Given the description of an element on the screen output the (x, y) to click on. 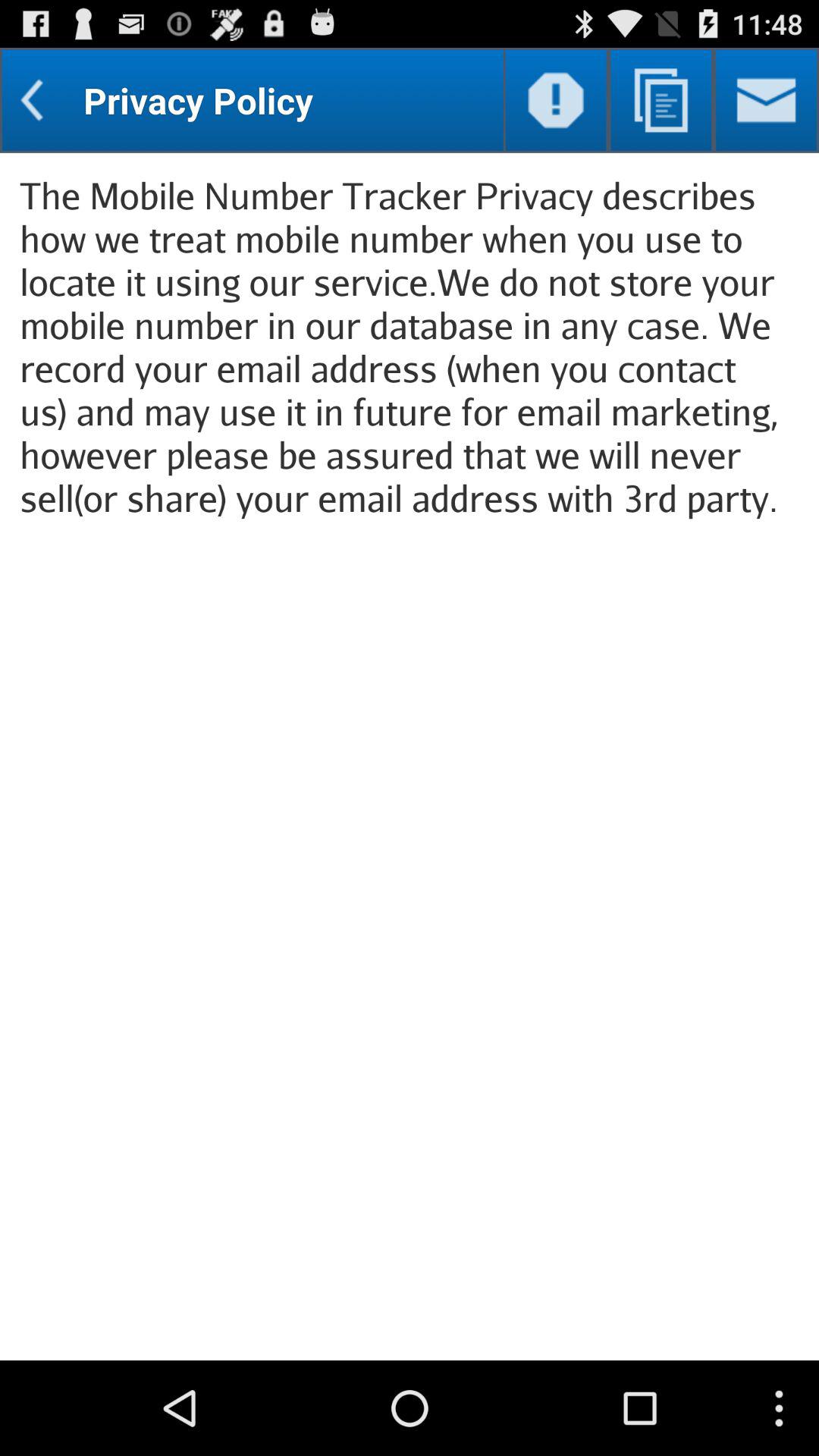
turn on the item above the the mobile number item (766, 99)
